Given the description of an element on the screen output the (x, y) to click on. 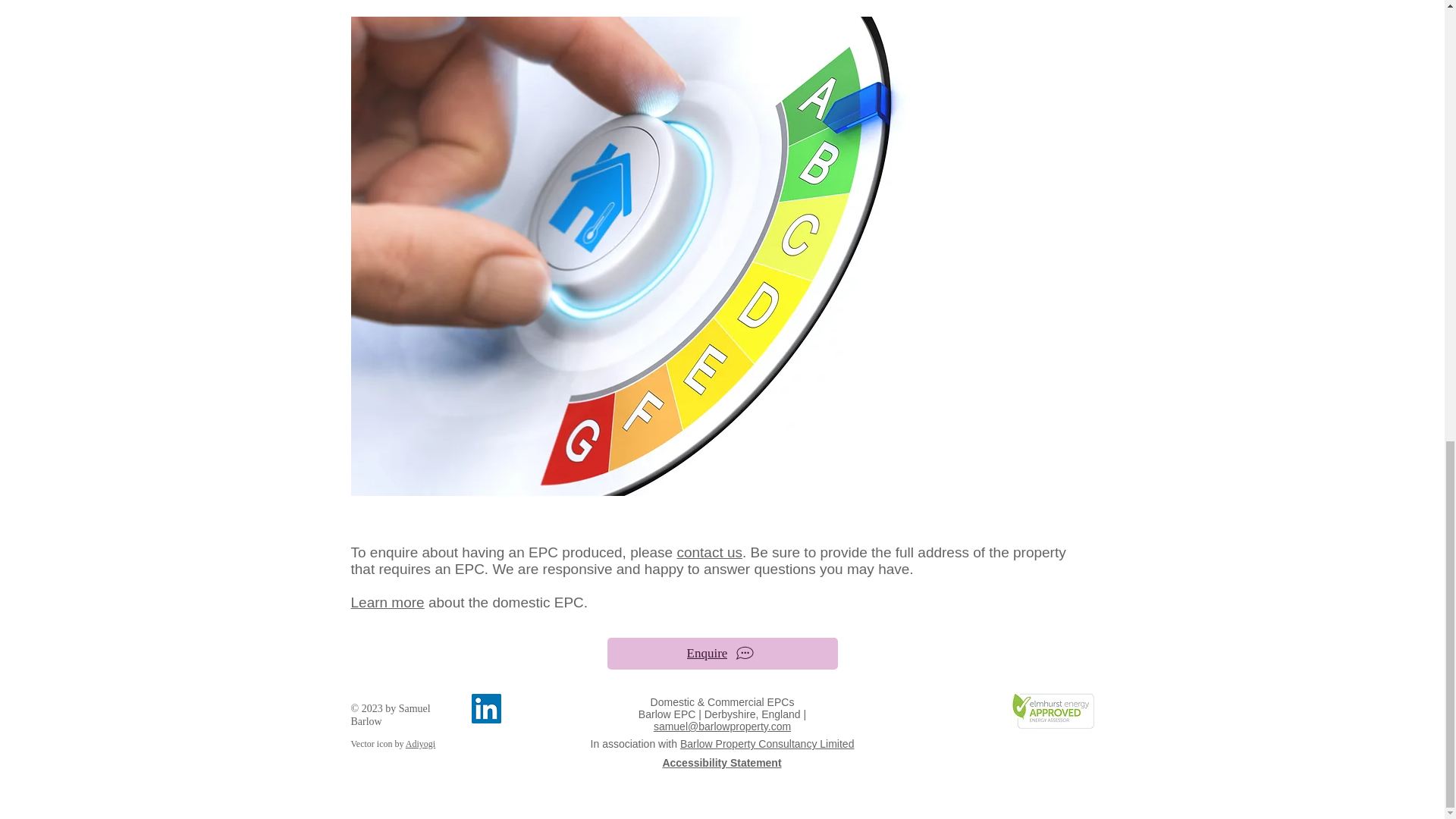
Learn more (386, 602)
Adiyogi (420, 743)
Accessibility Statement (721, 762)
contact us (709, 552)
Barlow Property Consultancy Limited (766, 743)
Enquire (722, 653)
